Given the description of an element on the screen output the (x, y) to click on. 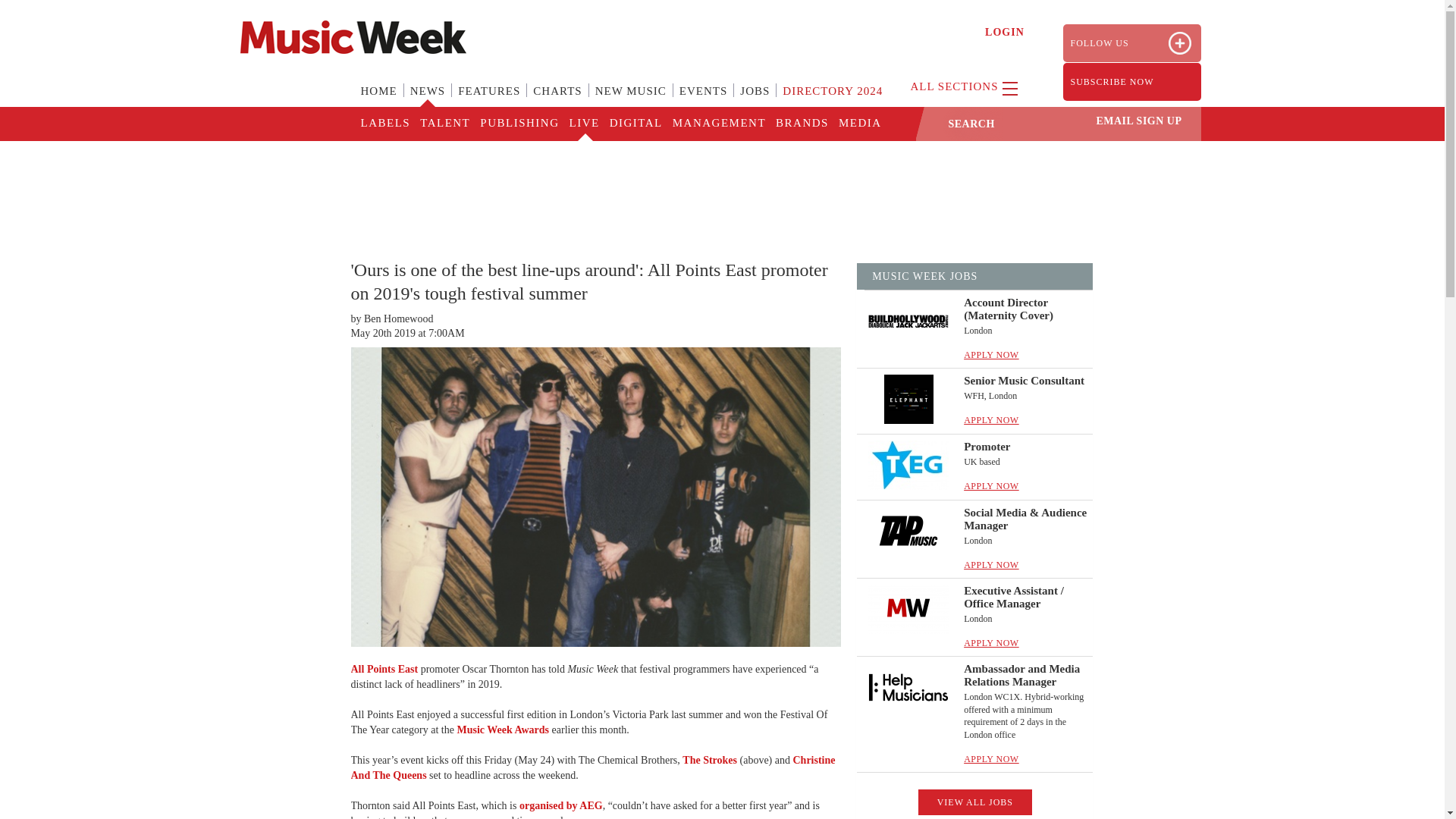
MEDIA (858, 123)
3rd party ad content (721, 190)
BRANDS (801, 123)
LABELS (384, 123)
LIVE (582, 123)
EVENTS (702, 100)
FEATURES (488, 100)
DIGITAL (635, 123)
TALENT (443, 123)
CHARTS (557, 100)
NEWS (427, 100)
HOME (379, 100)
LOGIN (1005, 31)
MANAGEMENT (718, 123)
